Given the description of an element on the screen output the (x, y) to click on. 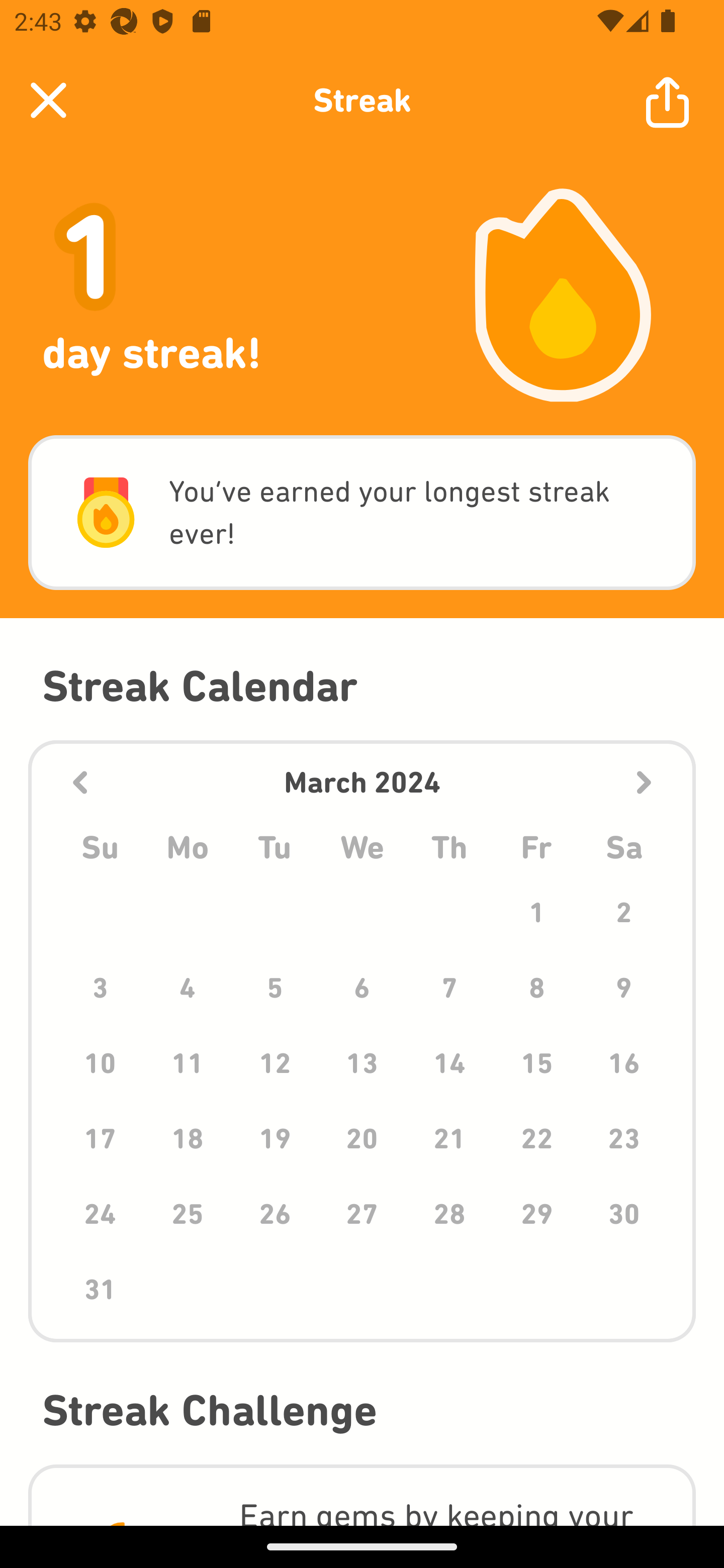
You’ve earned your longest streak ever! (361, 512)
